Given the description of an element on the screen output the (x, y) to click on. 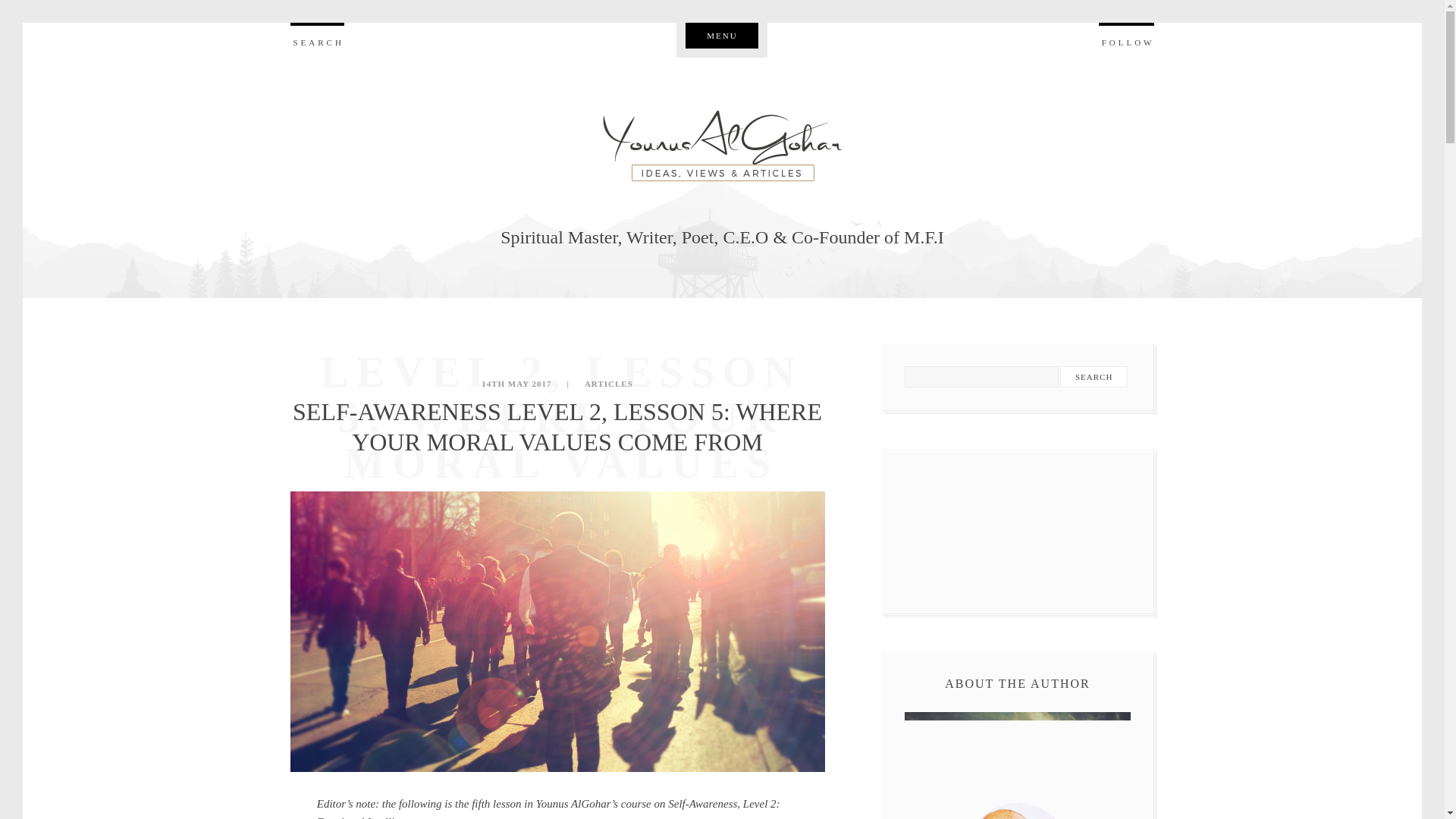
SEARCH (316, 36)
MENU (721, 35)
FOLLOW (1126, 36)
Search (1093, 376)
ARTICLES (606, 383)
